Given the description of an element on the screen output the (x, y) to click on. 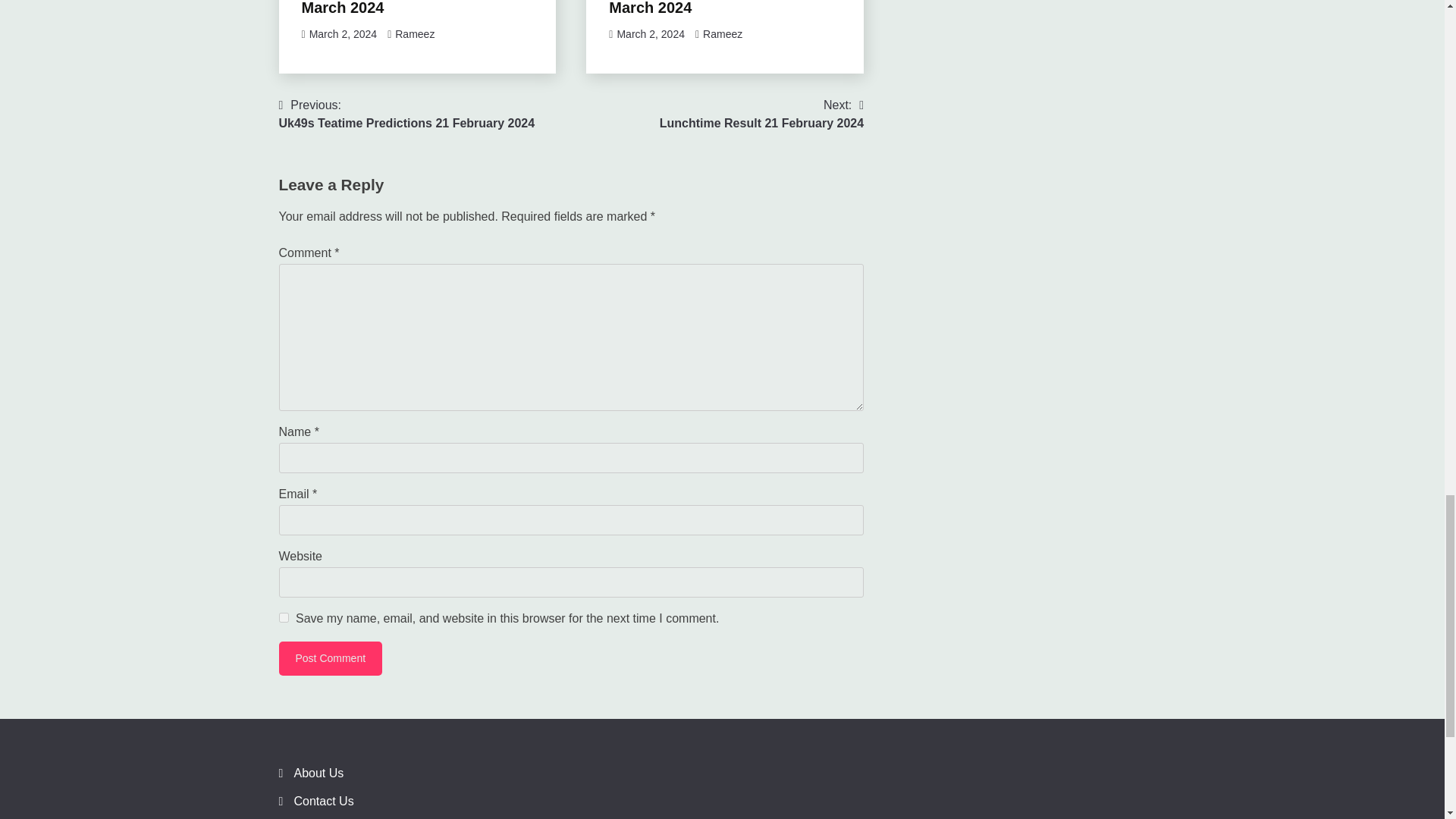
yes (283, 617)
Rameez (413, 33)
Post Comment (330, 658)
UK Teatime Results for today 02 March 2024 (416, 7)
March 2, 2024 (407, 114)
Post Comment (342, 33)
Uk49s Teatime Predictions 02 March 2024 (330, 658)
March 2, 2024 (761, 114)
Rameez (715, 7)
